Given the description of an element on the screen output the (x, y) to click on. 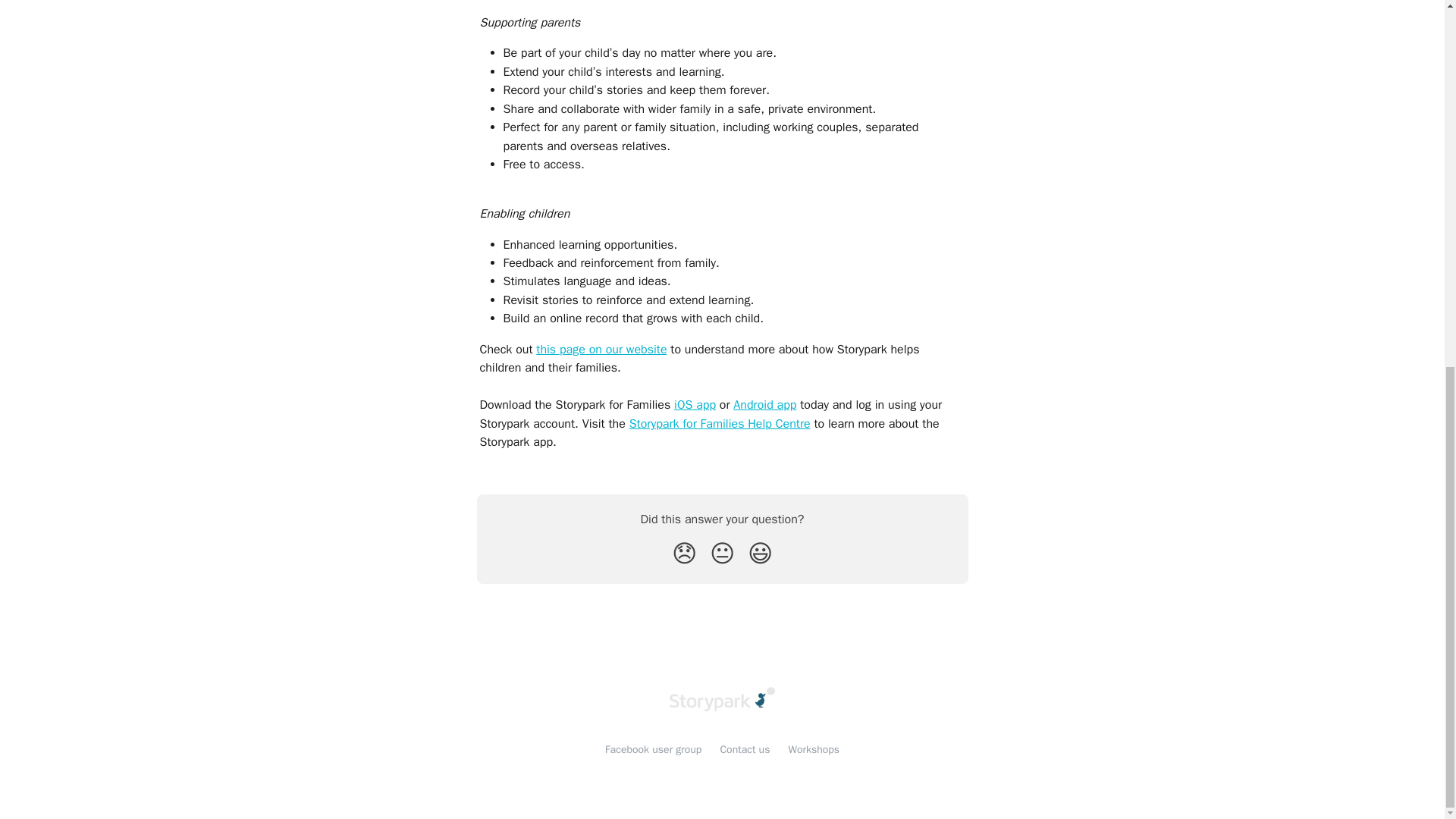
iOS app (695, 404)
Contact us (744, 748)
Storypark for Families Help Centre (719, 423)
this page on our website (600, 349)
Facebook user group (653, 748)
Workshops (813, 748)
Android app (764, 404)
